Given the description of an element on the screen output the (x, y) to click on. 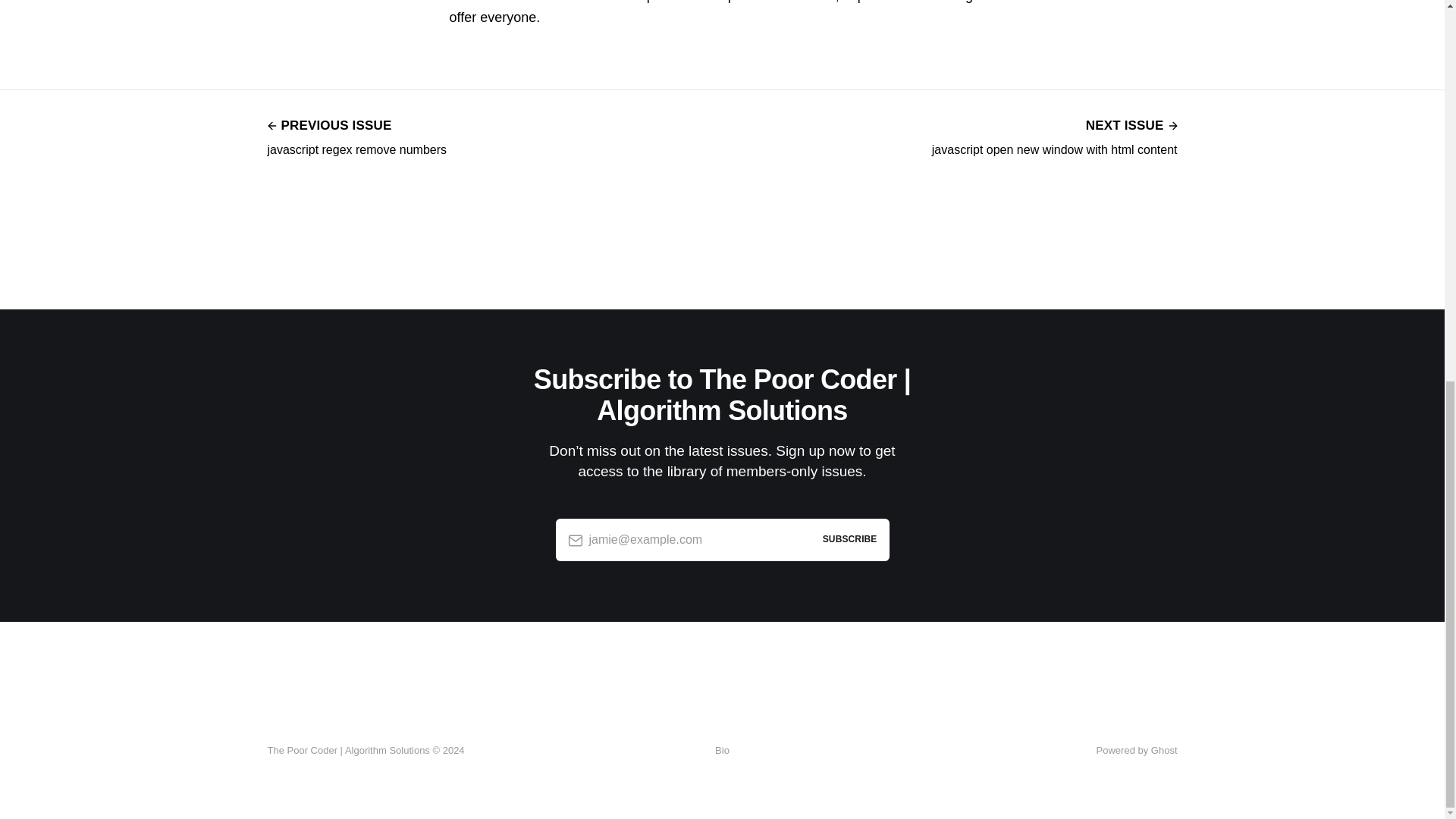
Bio (1054, 136)
Powered by Ghost (721, 750)
